Given the description of an element on the screen output the (x, y) to click on. 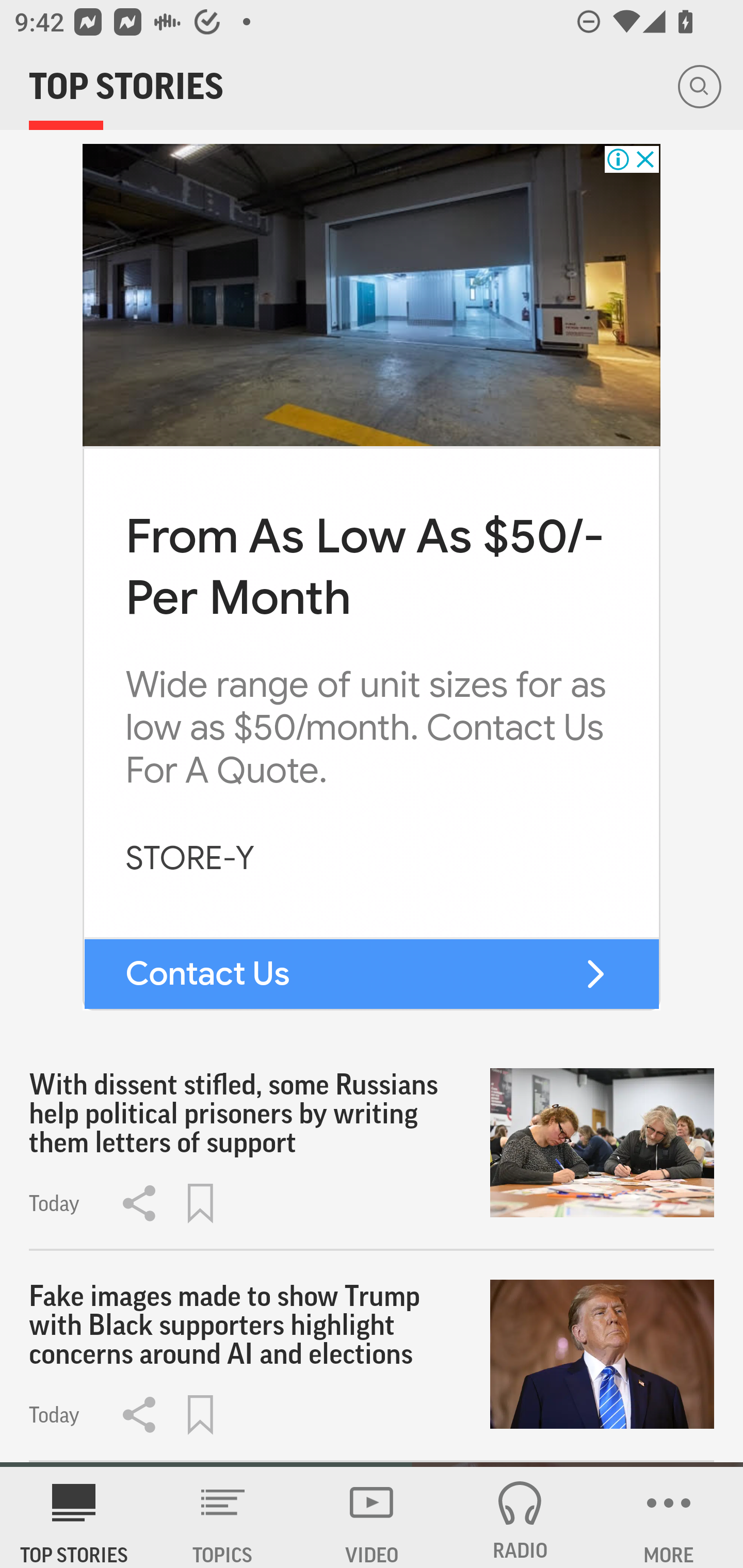
STORE-Y (189, 859)
Contact Us (206, 973)
AP News TOP STORIES (74, 1517)
TOPICS (222, 1517)
VIDEO (371, 1517)
RADIO (519, 1517)
MORE (668, 1517)
